Given the description of an element on the screen output the (x, y) to click on. 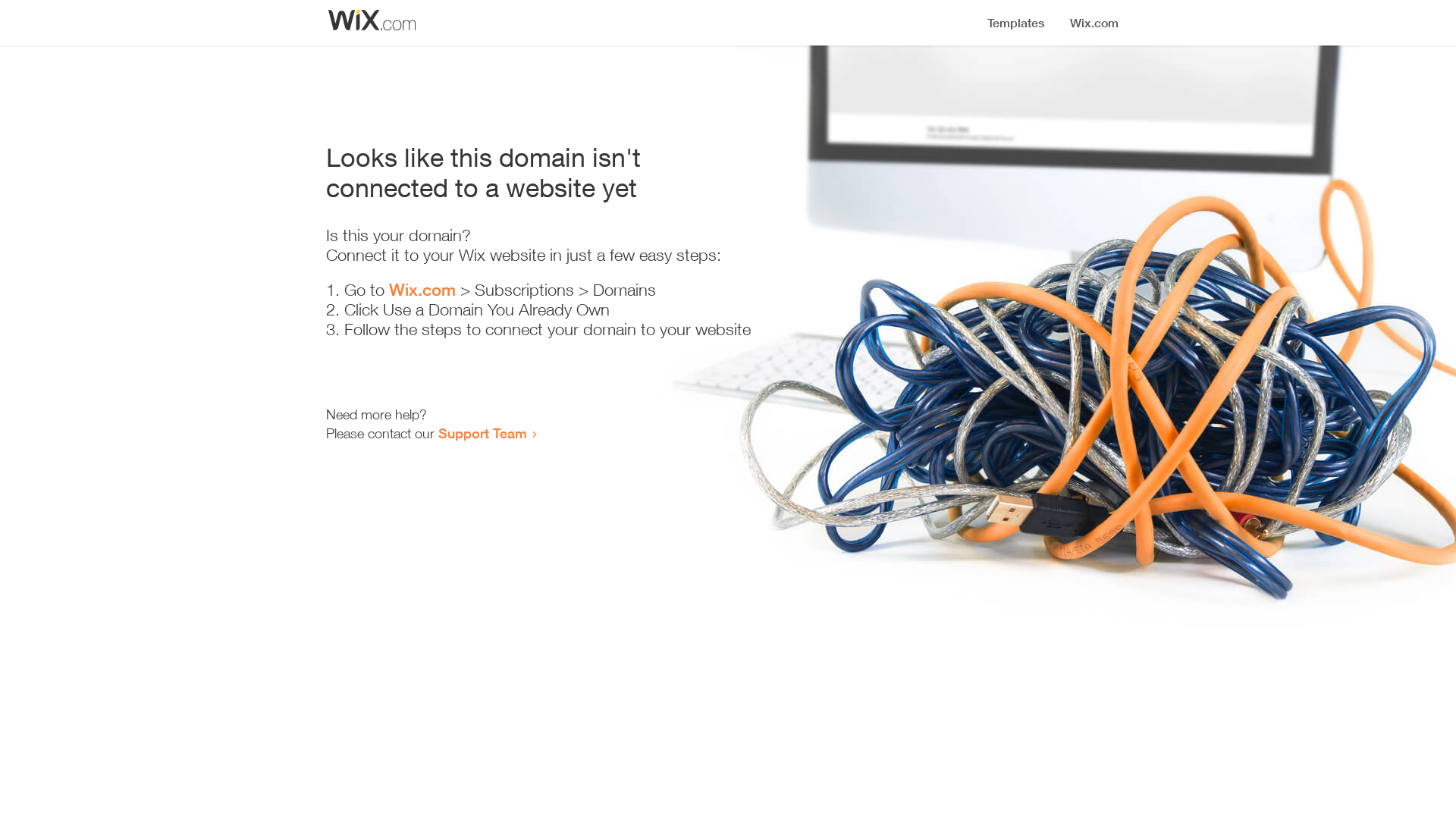
Wix.com Element type: text (422, 289)
Support Team Element type: text (482, 432)
